Given the description of an element on the screen output the (x, y) to click on. 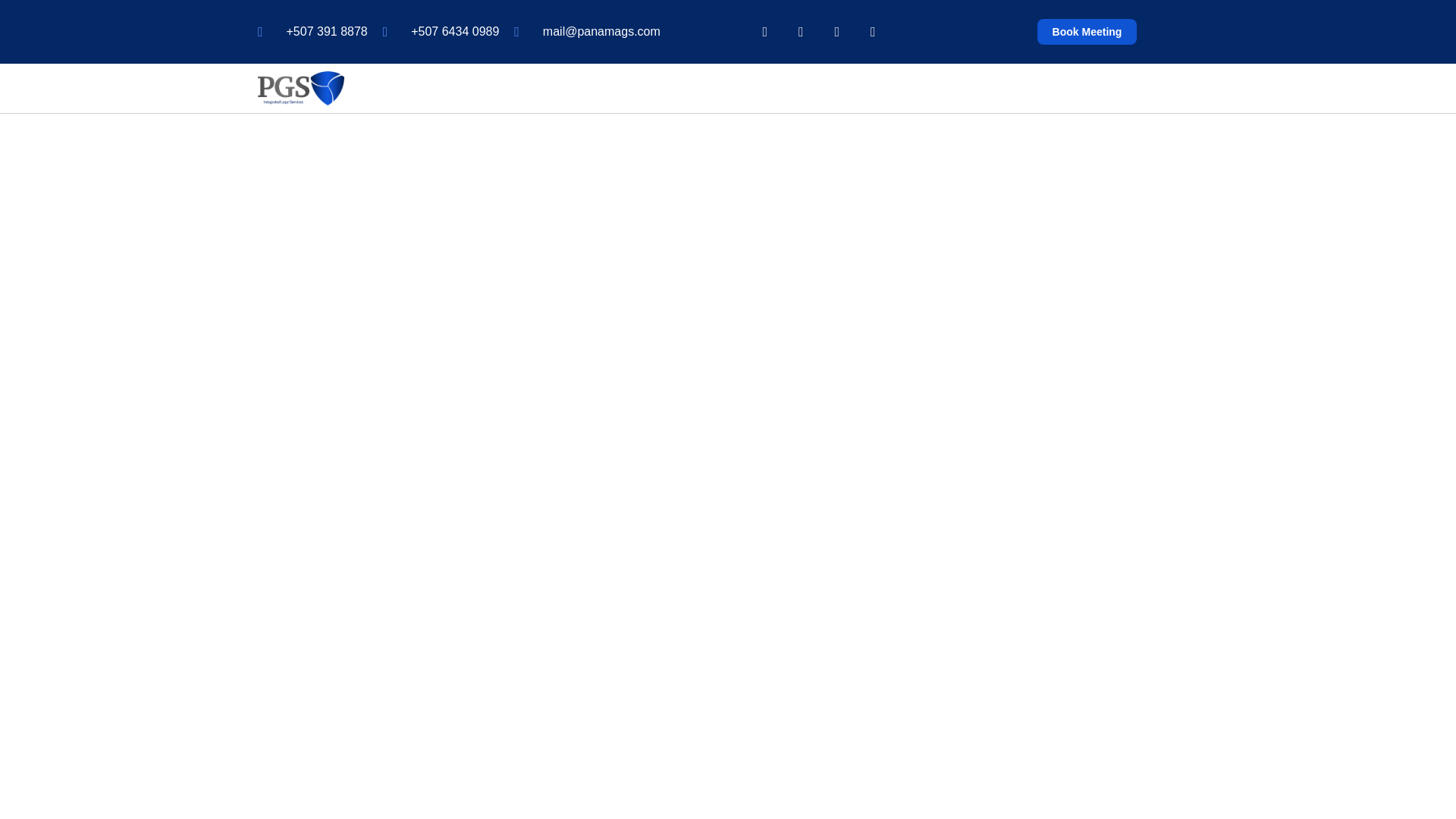
Book Meeting (1086, 31)
